Given the description of an element on the screen output the (x, y) to click on. 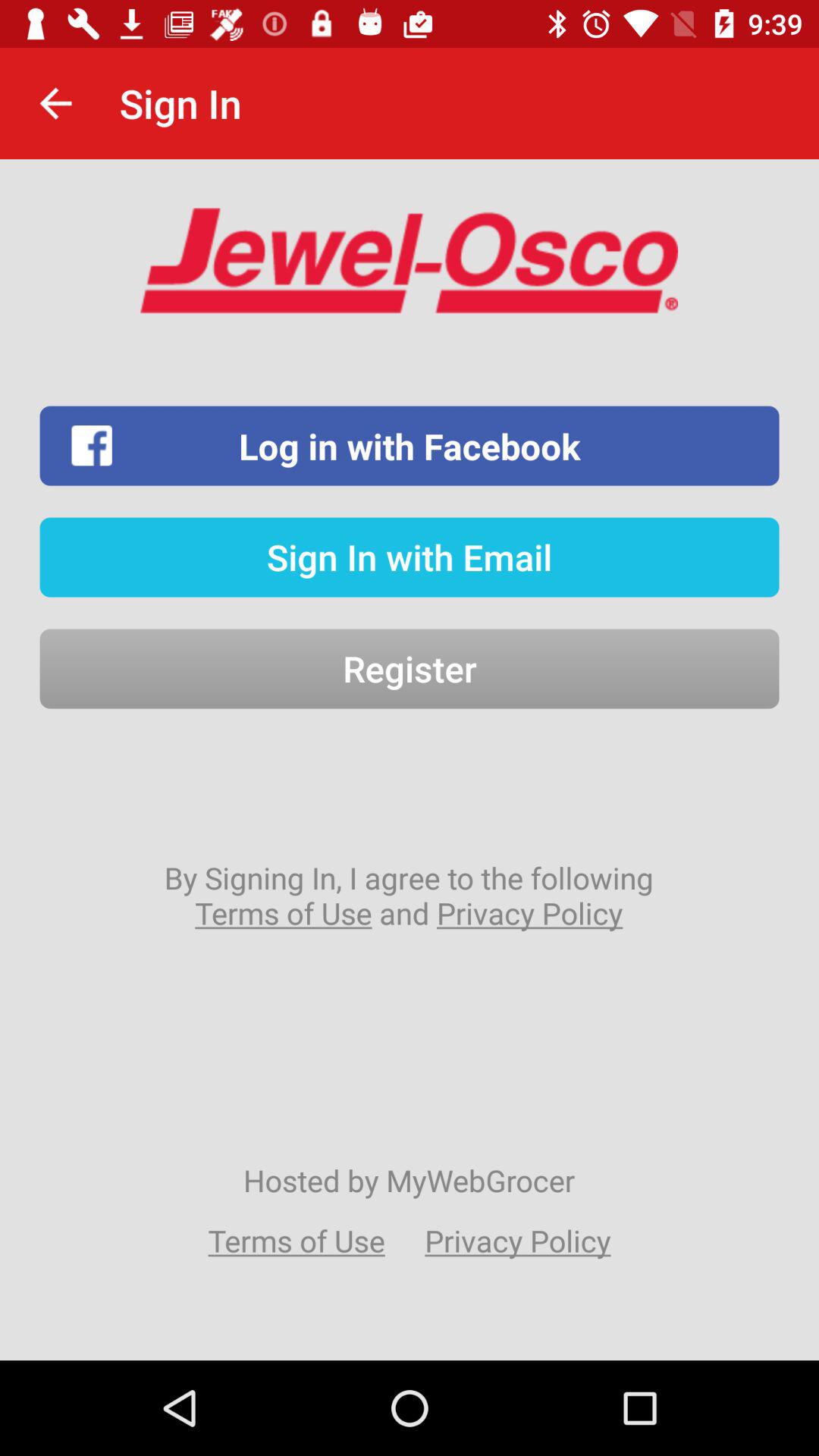
tap the by signing in (408, 895)
